Given the description of an element on the screen output the (x, y) to click on. 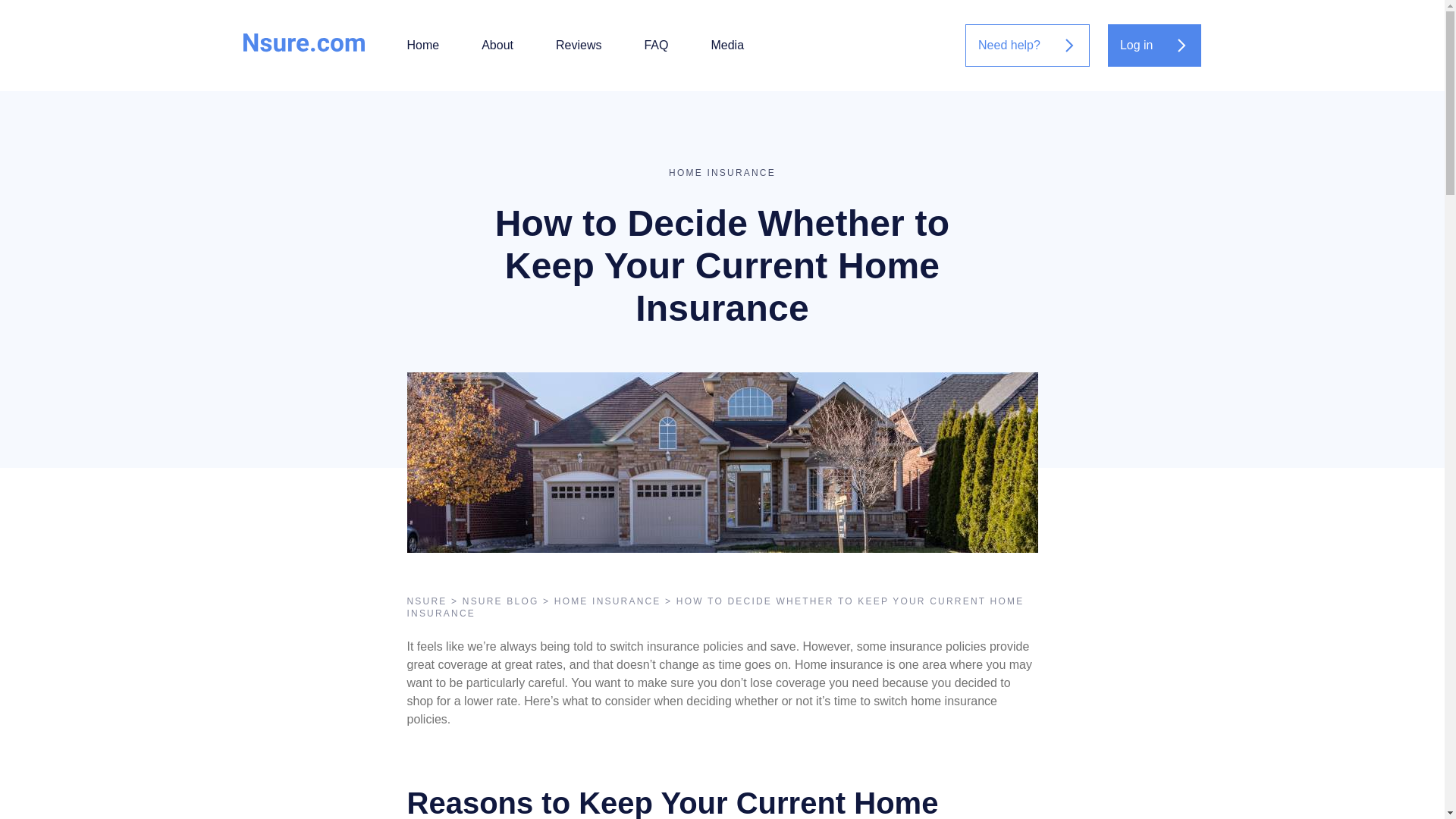
About (497, 45)
FAQ (655, 45)
NSURE (426, 601)
NSURE BLOG (500, 601)
Log in (1155, 45)
HOME INSURANCE (607, 601)
Need help? (1027, 45)
Reviews (578, 45)
Media (727, 45)
Home (422, 45)
